Given the description of an element on the screen output the (x, y) to click on. 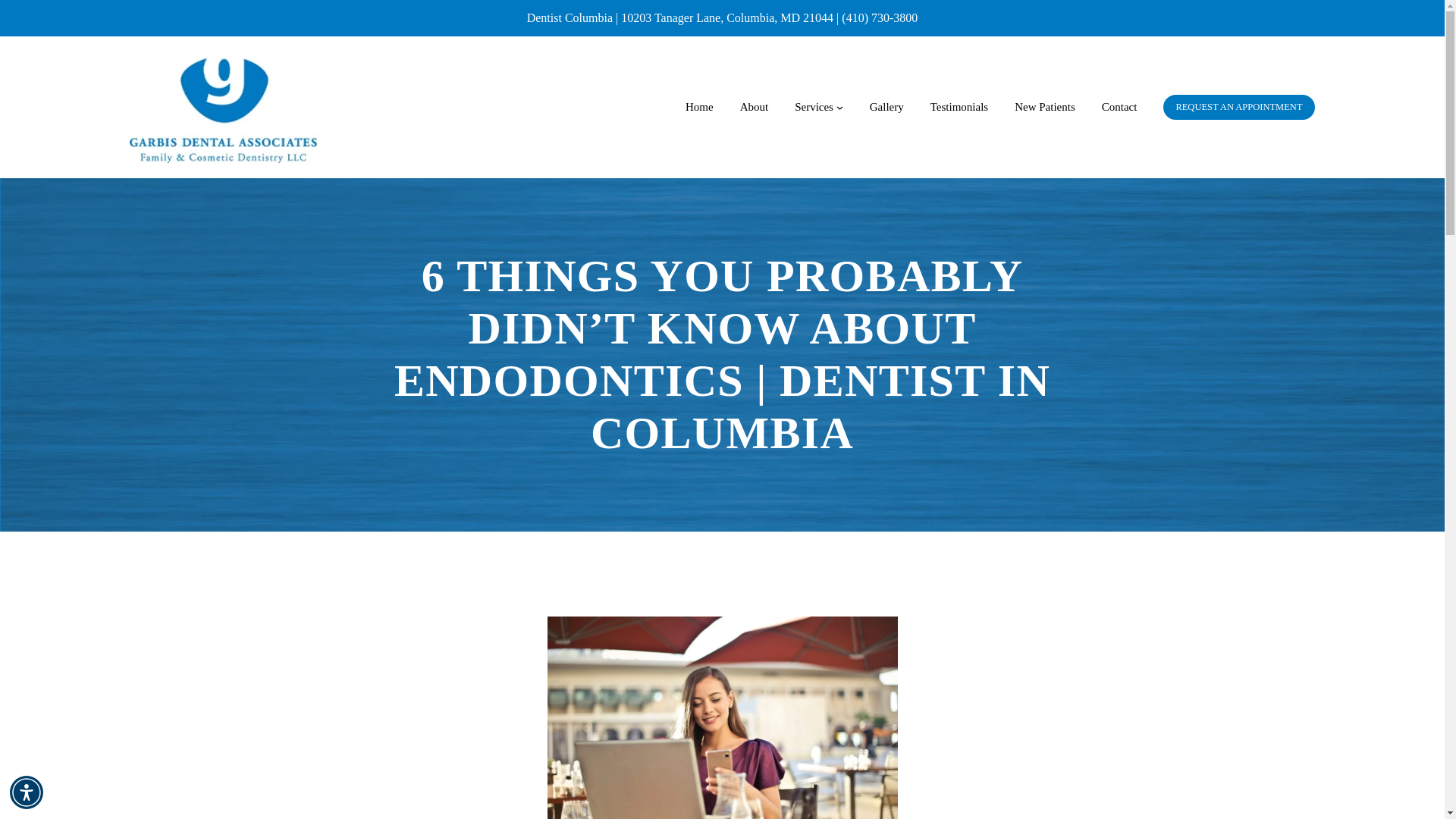
10203 Tanager Lane, Columbia, MD 21044 (726, 17)
Accessibility Menu (26, 792)
